Given the description of an element on the screen output the (x, y) to click on. 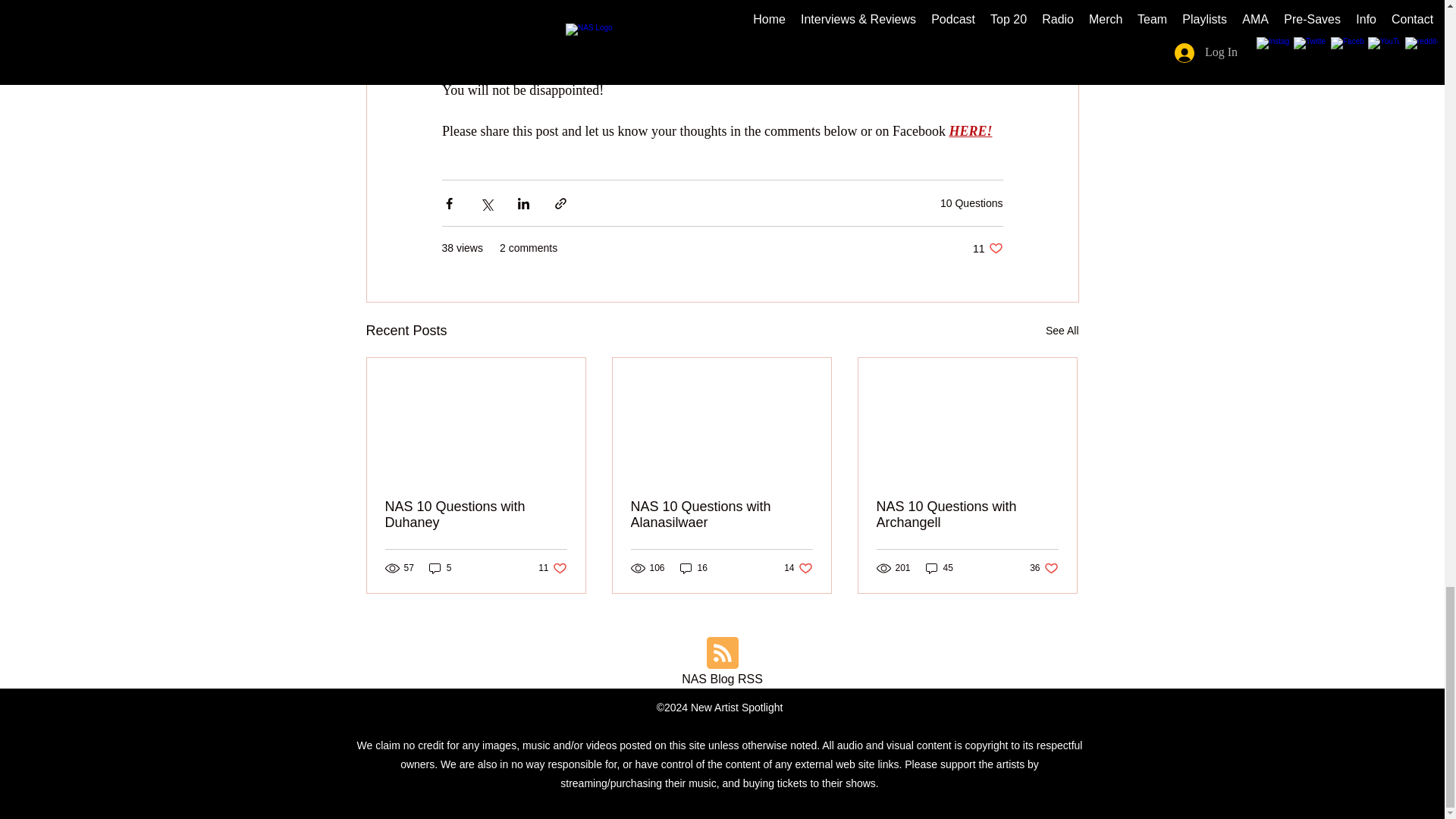
HERE! (970, 130)
10 Questions (987, 247)
